Given the description of an element on the screen output the (x, y) to click on. 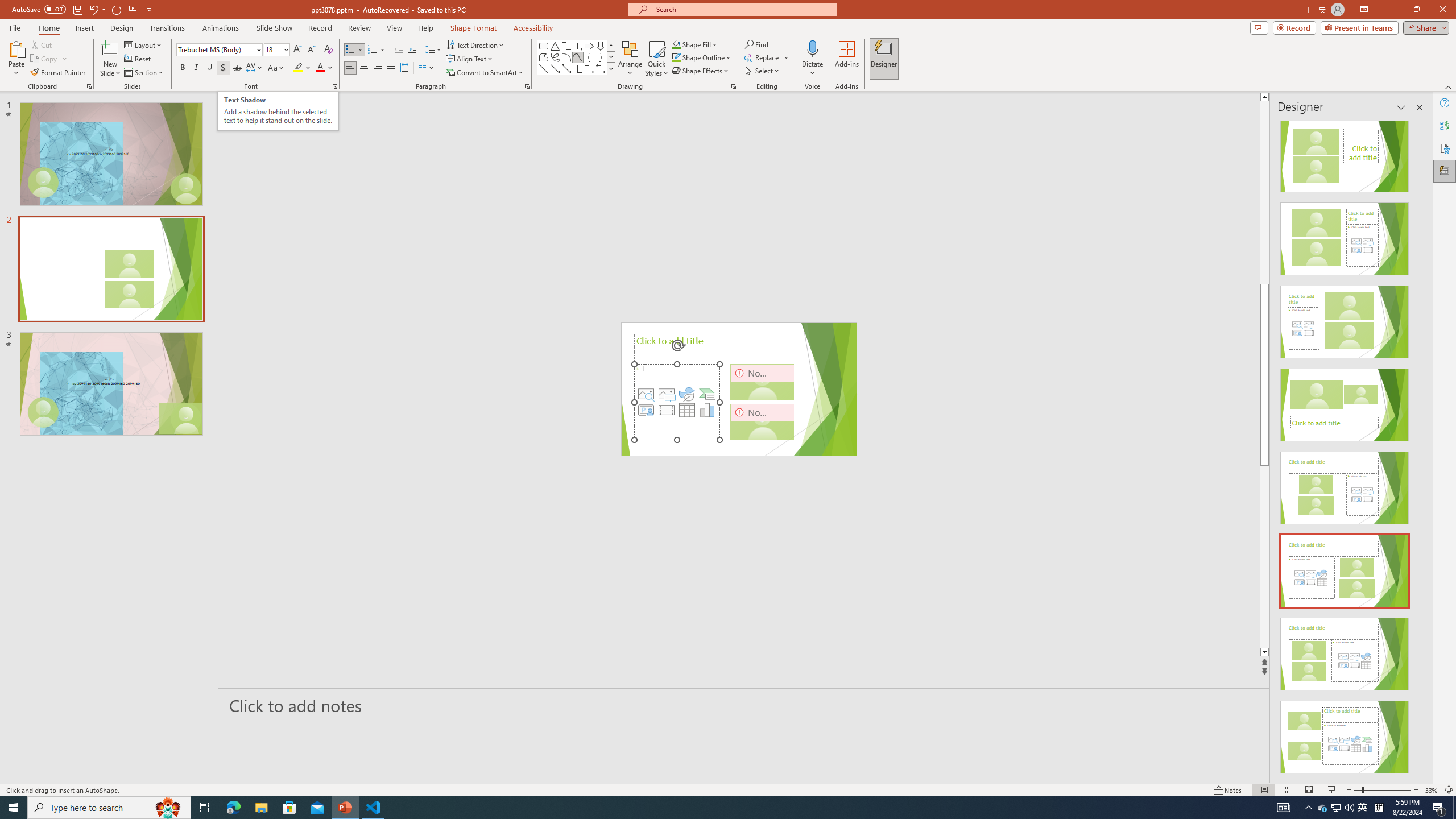
Camera 5, No camera detected. (761, 382)
